Given the description of an element on the screen output the (x, y) to click on. 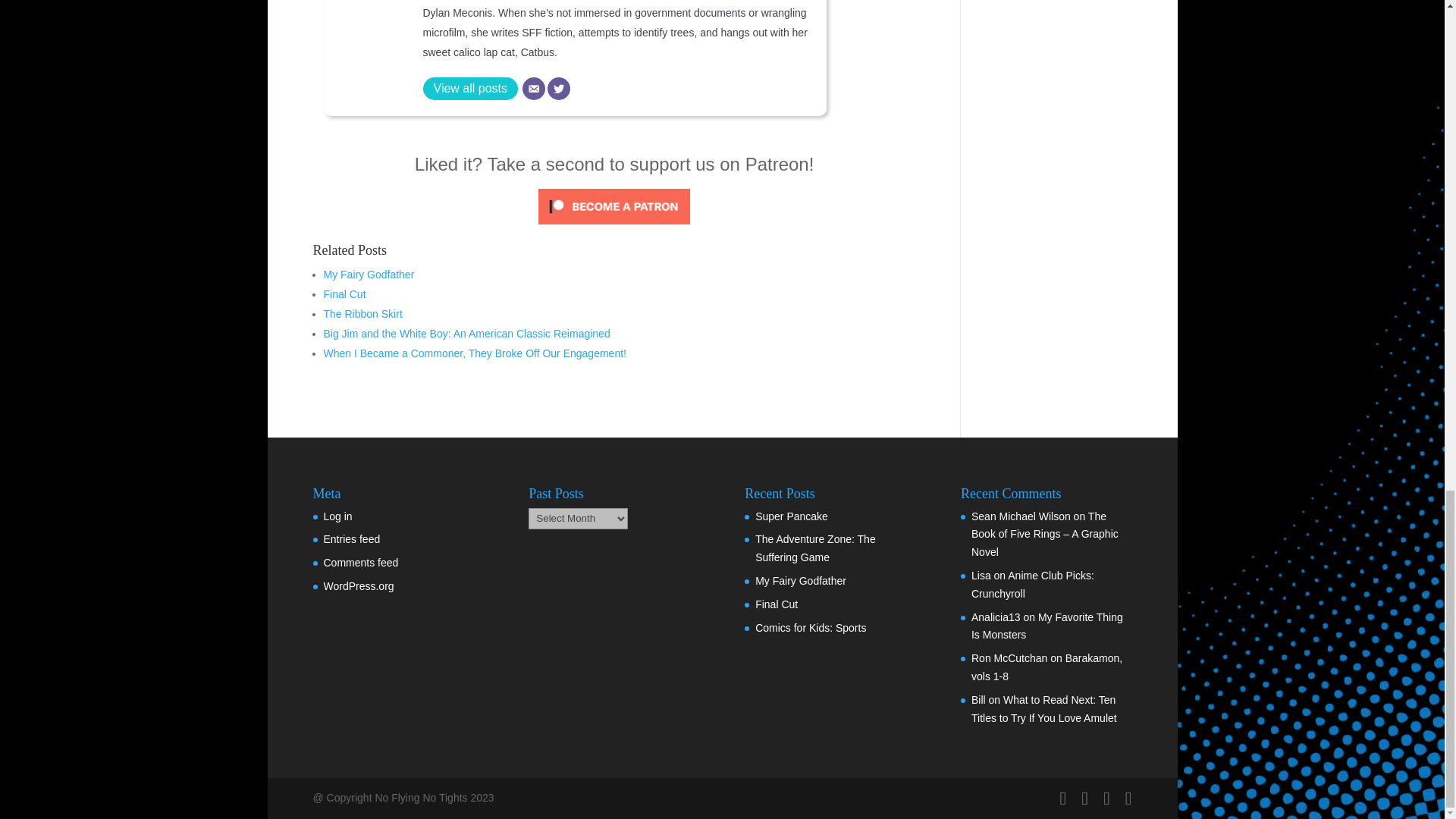
View all posts (470, 87)
